Given the description of an element on the screen output the (x, y) to click on. 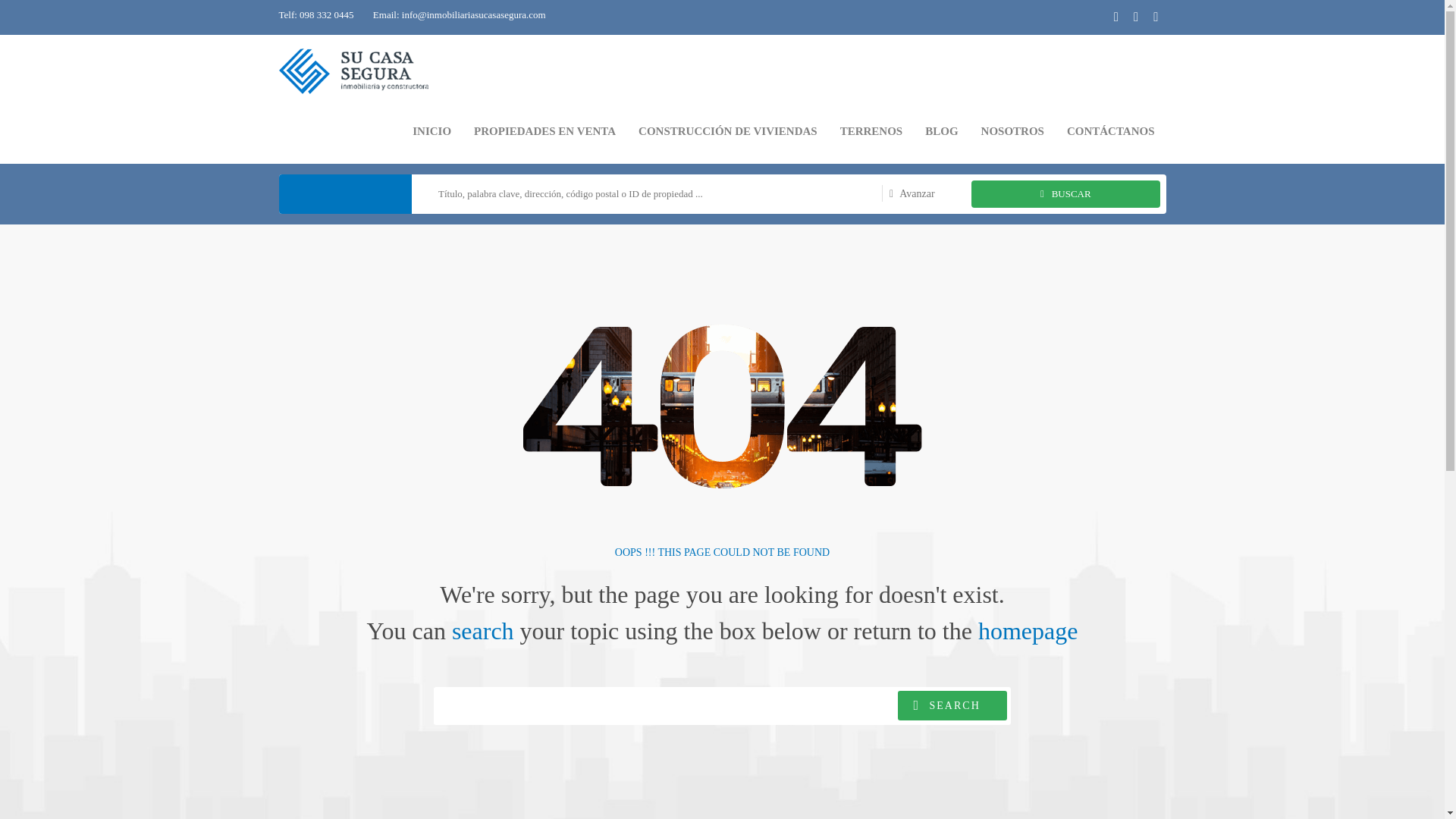
TERRENOS (871, 131)
SEARCH (952, 705)
Avanzar (908, 193)
PROPIEDADES EN VENTA (545, 131)
NOSOTROS (1012, 131)
INICIO (432, 131)
BUSCAR (1064, 194)
homepage (1028, 630)
Inmobiliaria y Constructora  Su Casa Segura (354, 66)
